Given the description of an element on the screen output the (x, y) to click on. 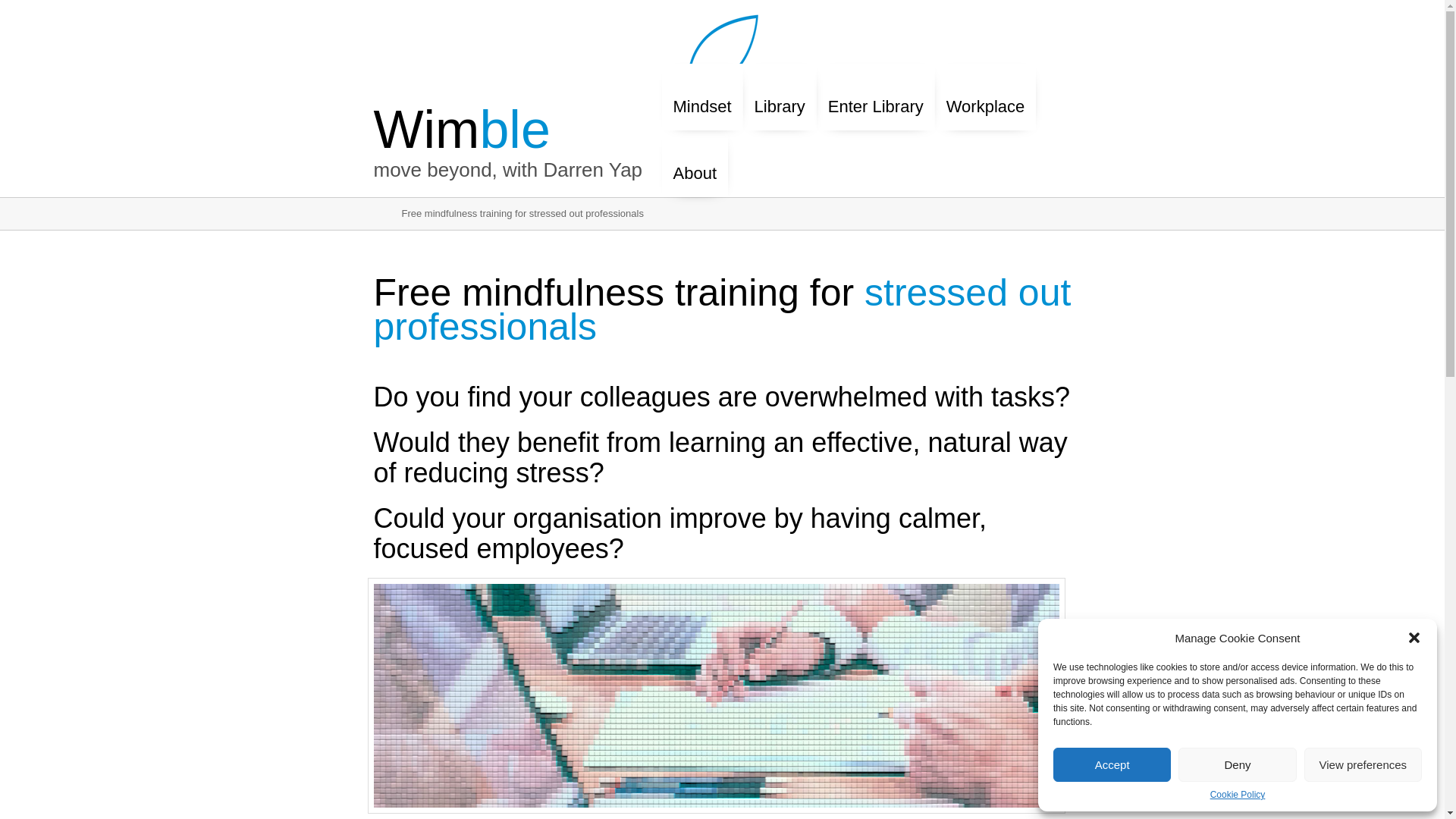
Subscribe to RSS Feed (1412, 54)
Workplace (985, 98)
Library (779, 98)
View preferences (1363, 764)
Mindset (701, 98)
Wimble (461, 128)
Accept (1111, 764)
Deny (1236, 764)
Cookie Policy (1237, 794)
About (694, 165)
Enter Library (875, 98)
